Given the description of an element on the screen output the (x, y) to click on. 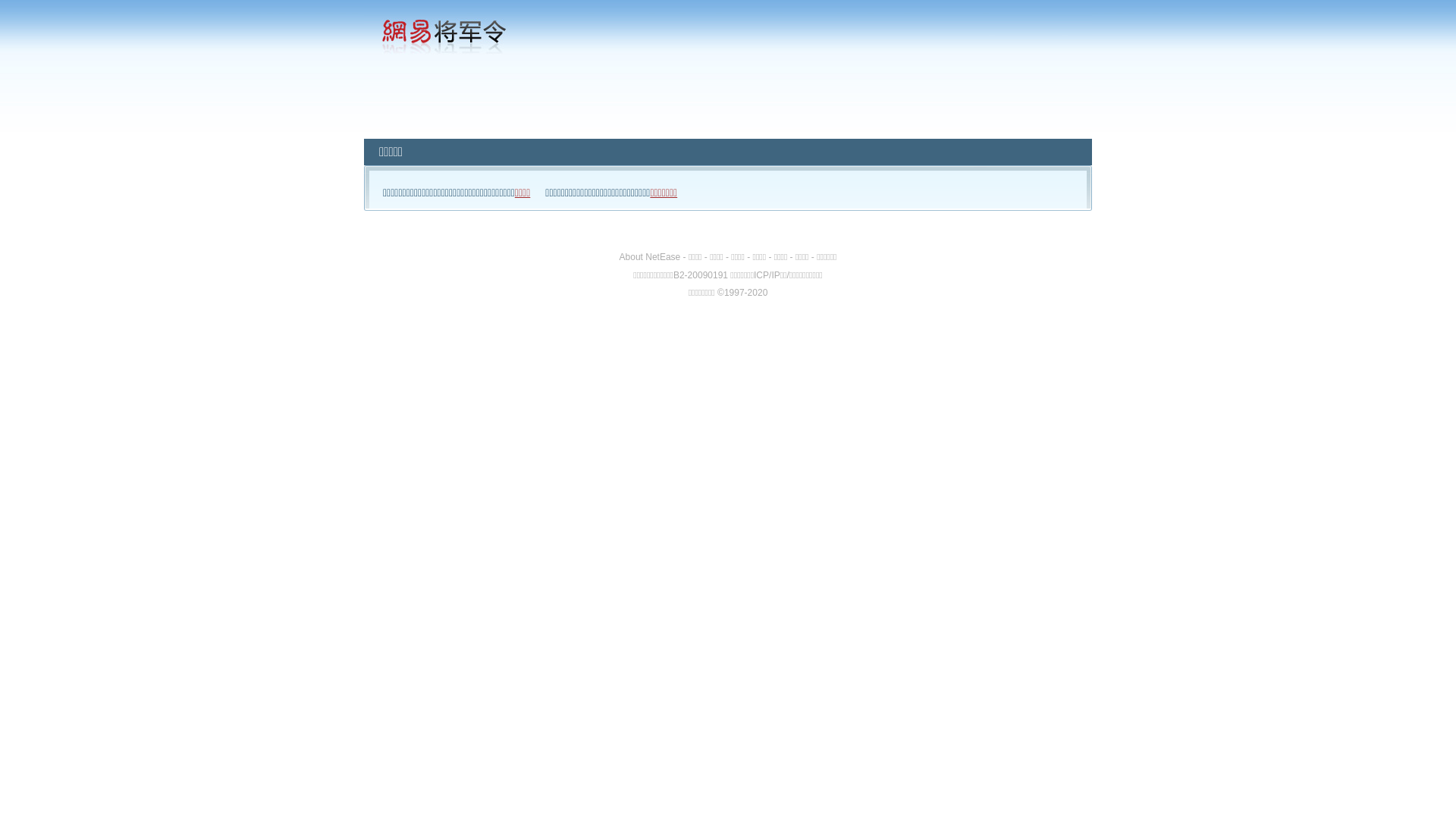
About NetEase Element type: text (649, 256)
